Given the description of an element on the screen output the (x, y) to click on. 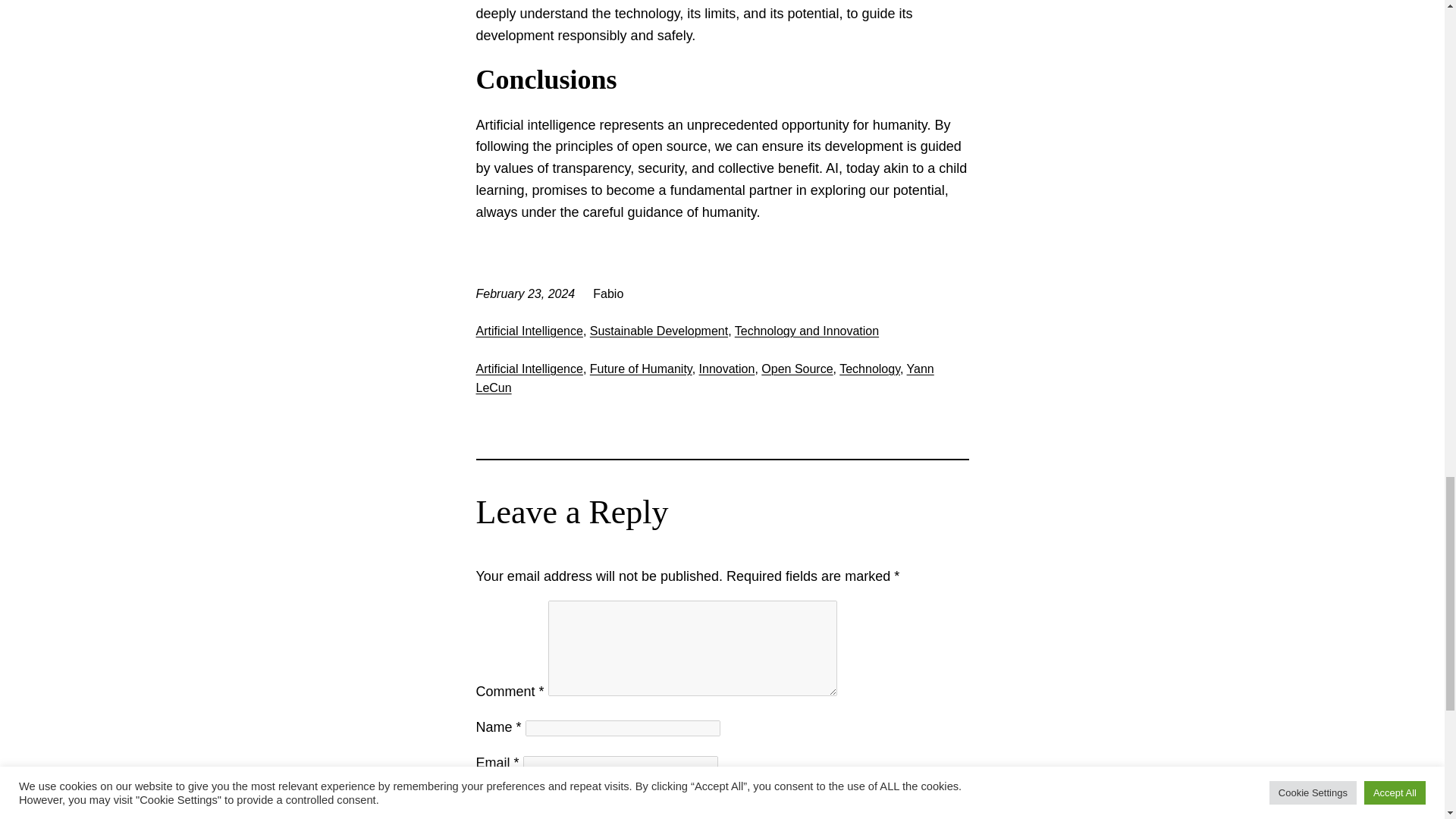
Future of Humanity (641, 368)
Sustainable Development (658, 330)
Technology and Innovation (807, 330)
Artificial Intelligence (529, 330)
Innovation (726, 368)
Technology (869, 368)
Open Source (796, 368)
Yann LeCun (705, 378)
Artificial Intelligence (529, 368)
